Given the description of an element on the screen output the (x, y) to click on. 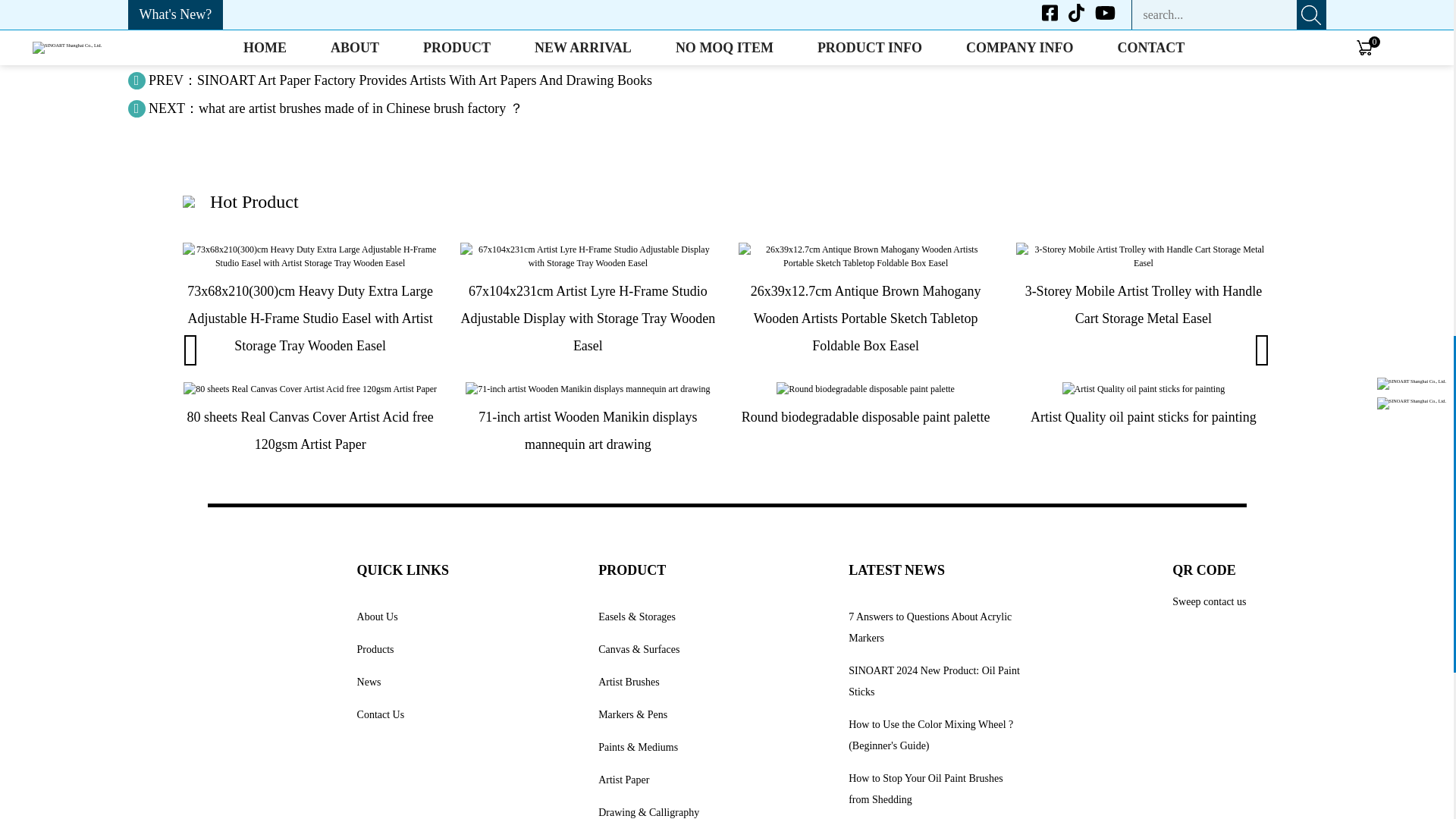
Round biodegradable disposable paint palette (865, 388)
71-inch artist Wooden Manikin displays mannequin art drawing (587, 388)
Artist Quality oil paint sticks for painting (1143, 388)
